Given the description of an element on the screen output the (x, y) to click on. 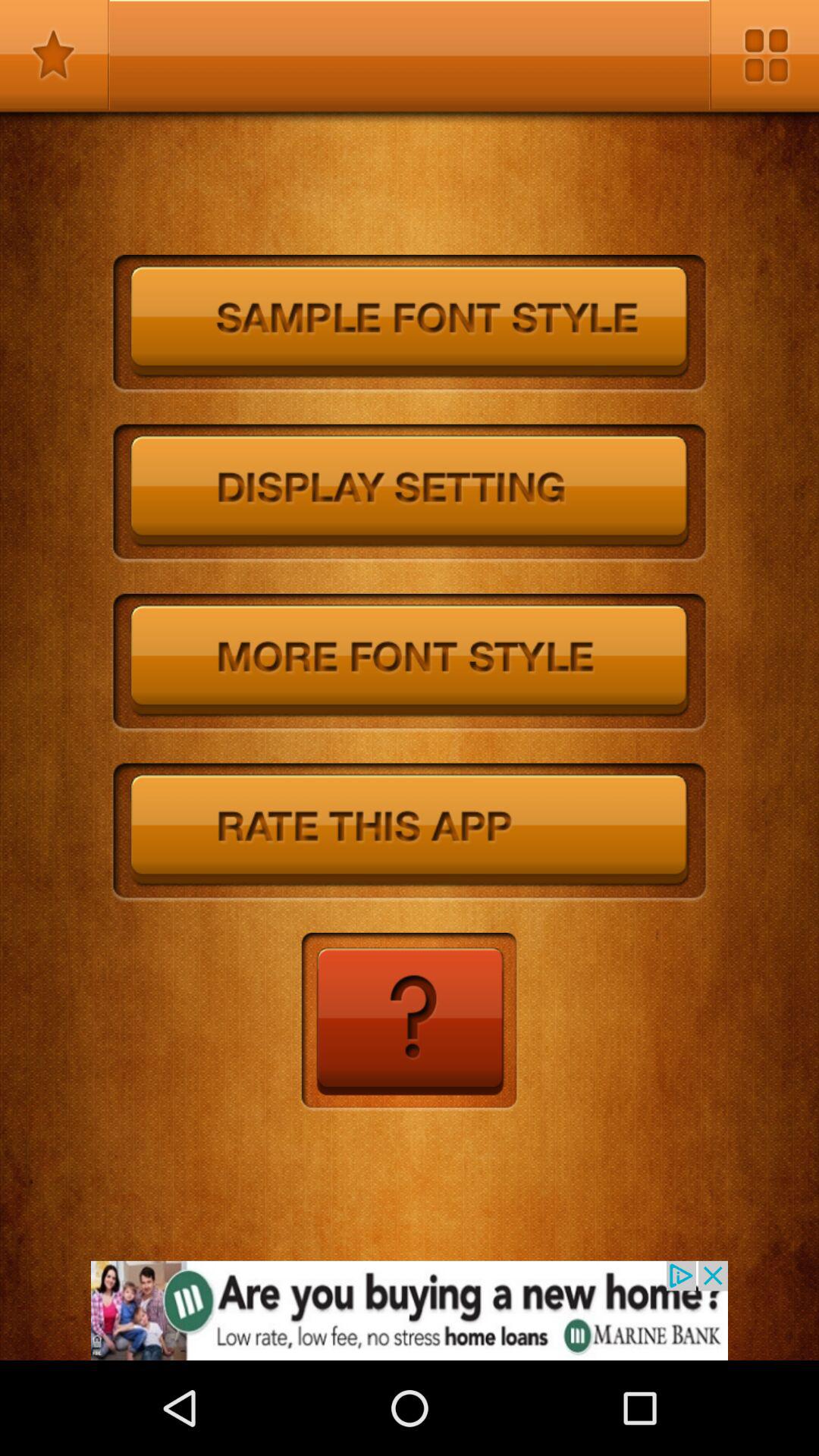
change display settings (409, 493)
